Given the description of an element on the screen output the (x, y) to click on. 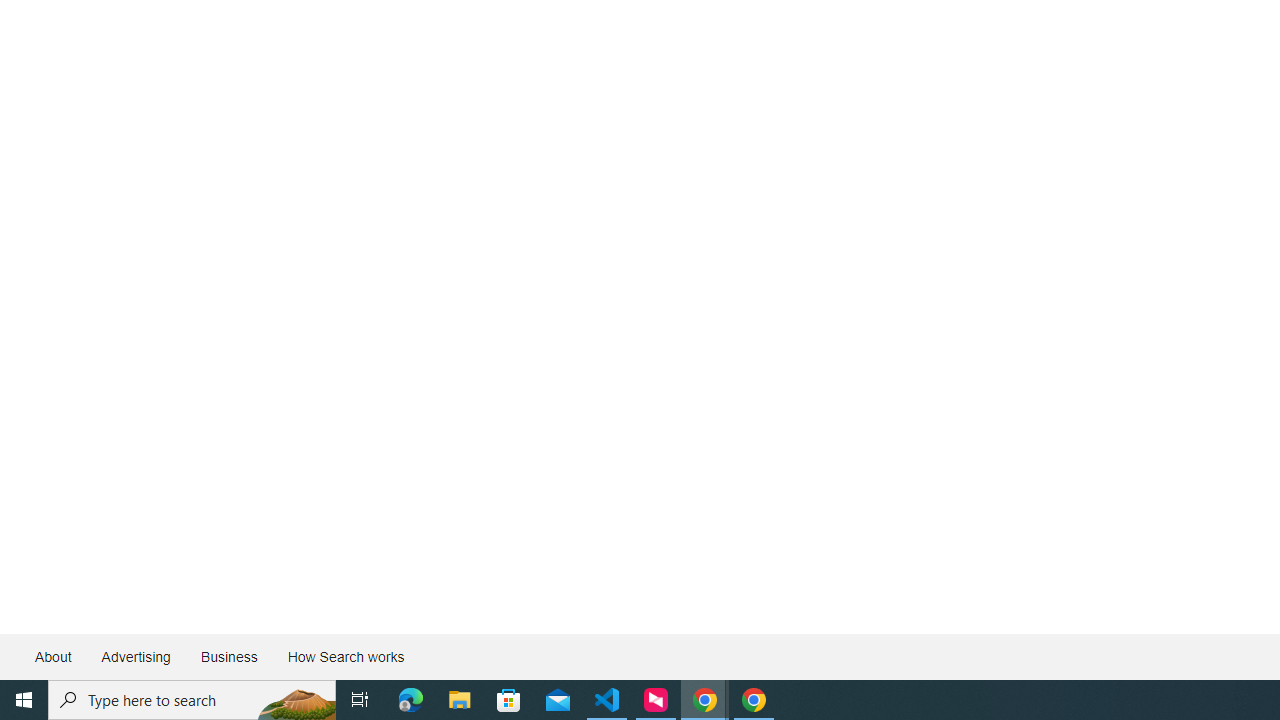
Business (228, 656)
How Search works (345, 656)
Advertising (135, 656)
About (53, 656)
